Given the description of an element on the screen output the (x, y) to click on. 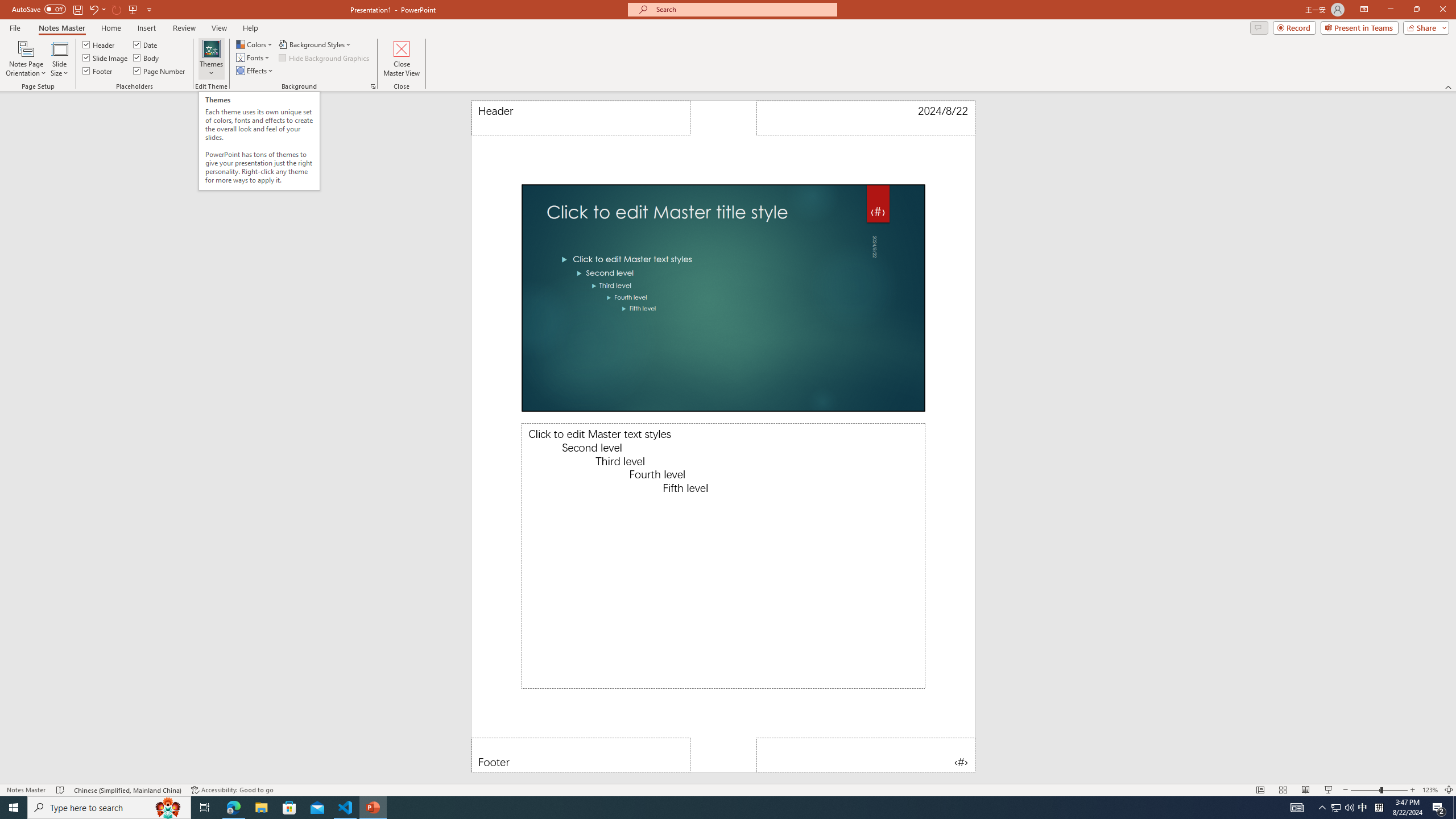
Zoom 123% (1430, 790)
Background Styles (315, 44)
Slide Size (59, 58)
